Given the description of an element on the screen output the (x, y) to click on. 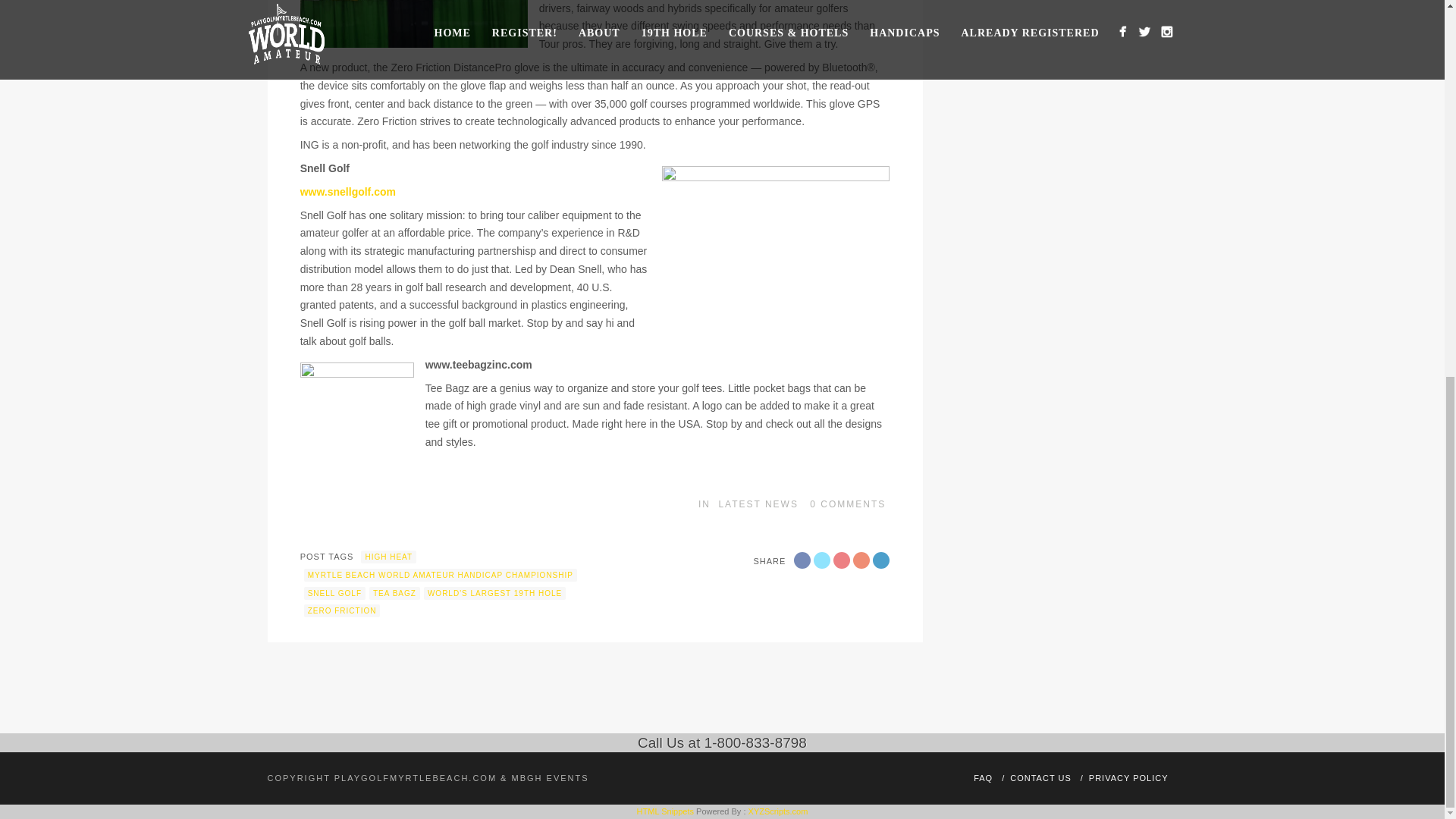
Facebook (801, 560)
SNELL GOLF (334, 593)
MYRTLE BEACH WORLD AMATEUR HANDICAP CHAMPIONSHIP (440, 574)
LinkedIn (880, 560)
www.snellgolf.com (347, 191)
WORLD'S LARGEST 19TH HOLE (494, 593)
HIGH HEAT (388, 556)
Insert HTML Snippet Wordpress Plugin (665, 810)
Twitter (821, 560)
Pinterest (861, 560)
LATEST NEWS (757, 503)
PRIVACY POLICY (1129, 777)
XYZScripts.com (778, 810)
0 COMMENTS (847, 503)
TEA BAGZ (394, 593)
